Given the description of an element on the screen output the (x, y) to click on. 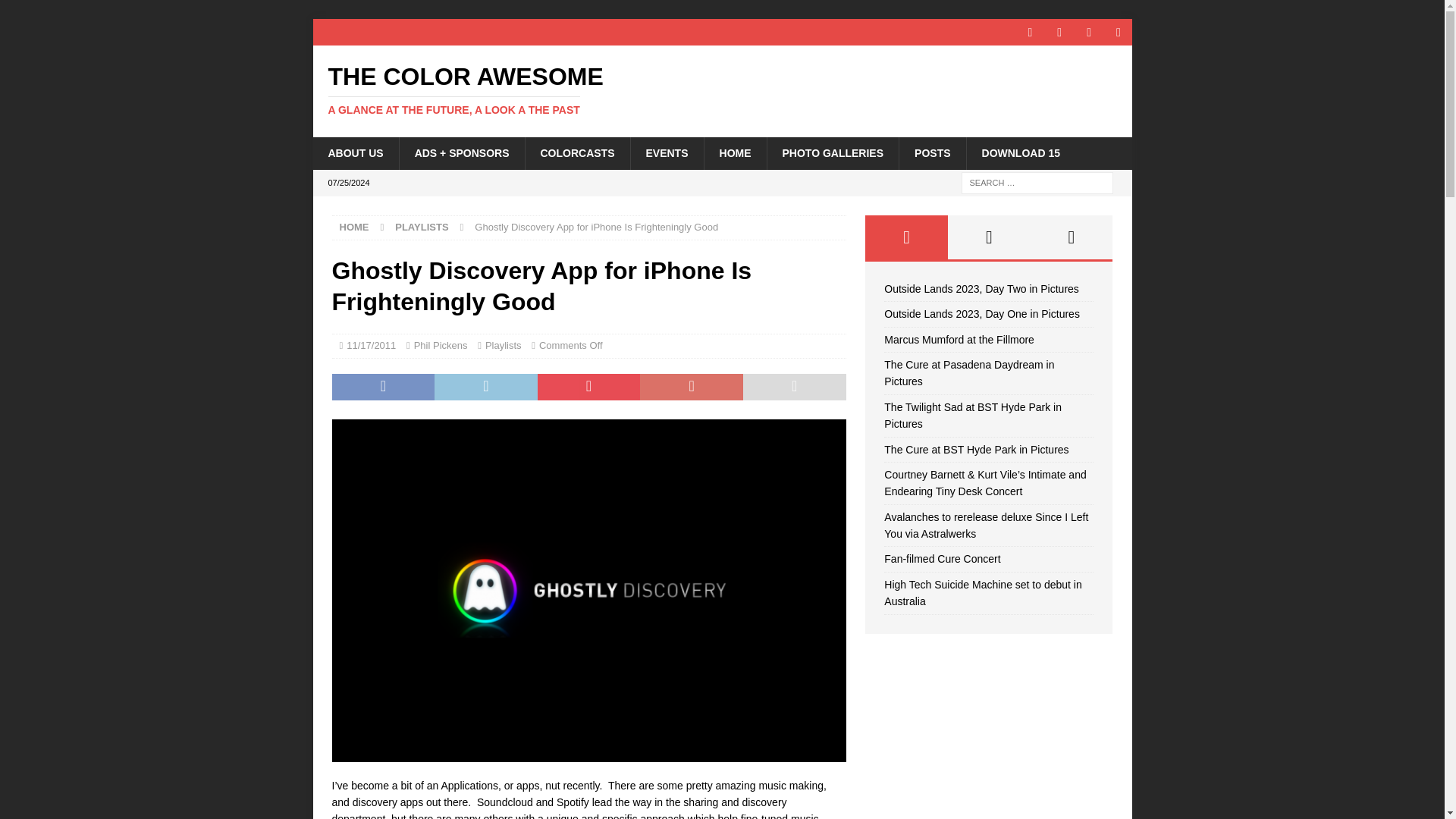
COLORCASTS (577, 152)
PHOTO GALLERIES (833, 152)
EVENTS (721, 90)
The Color Awesome (665, 152)
HOME (721, 90)
Phil Pickens (354, 226)
POSTS (440, 345)
ABOUT US (931, 152)
Search (355, 152)
Playlists (56, 11)
PLAYLISTS (502, 345)
DOWNLOAD 15 (421, 226)
HOME (1020, 152)
